Given the description of an element on the screen output the (x, y) to click on. 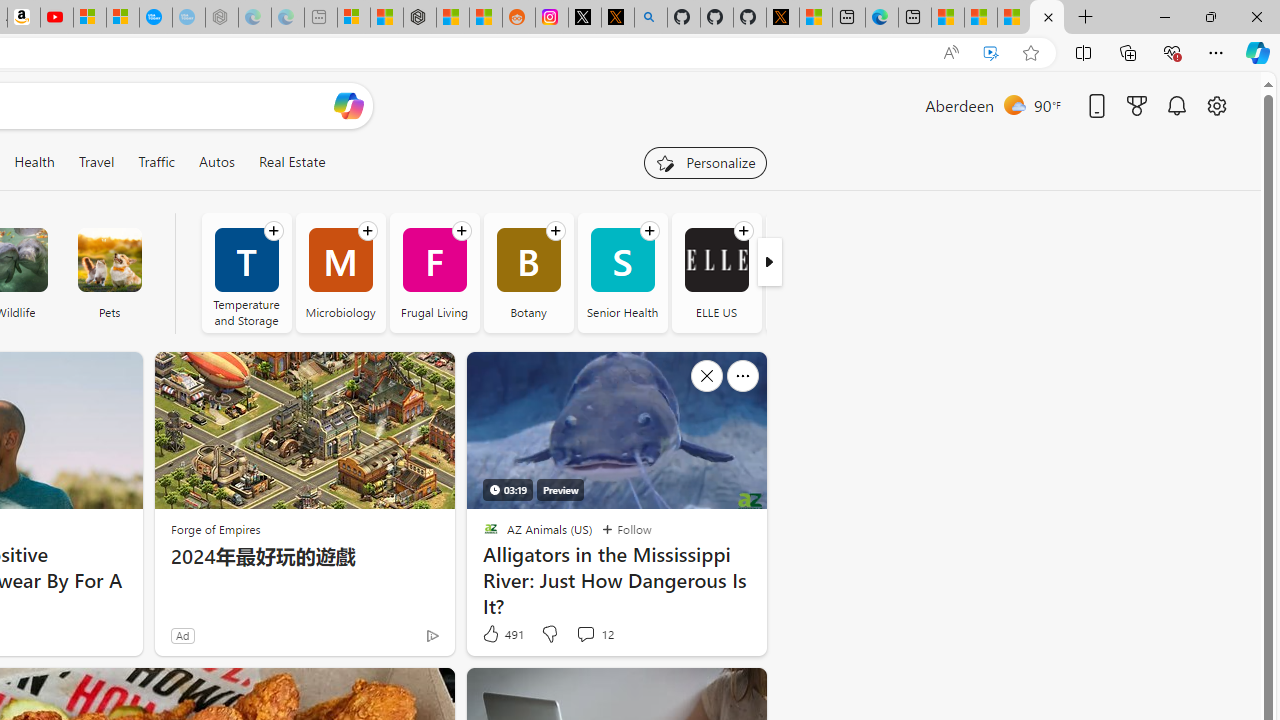
Opinion: Op-Ed and Commentary - USA TODAY (155, 17)
ELLE US (715, 260)
Nordace - Duffels (420, 17)
MSNBC - MSN (981, 17)
SB Nation (810, 272)
